Given the description of an element on the screen output the (x, y) to click on. 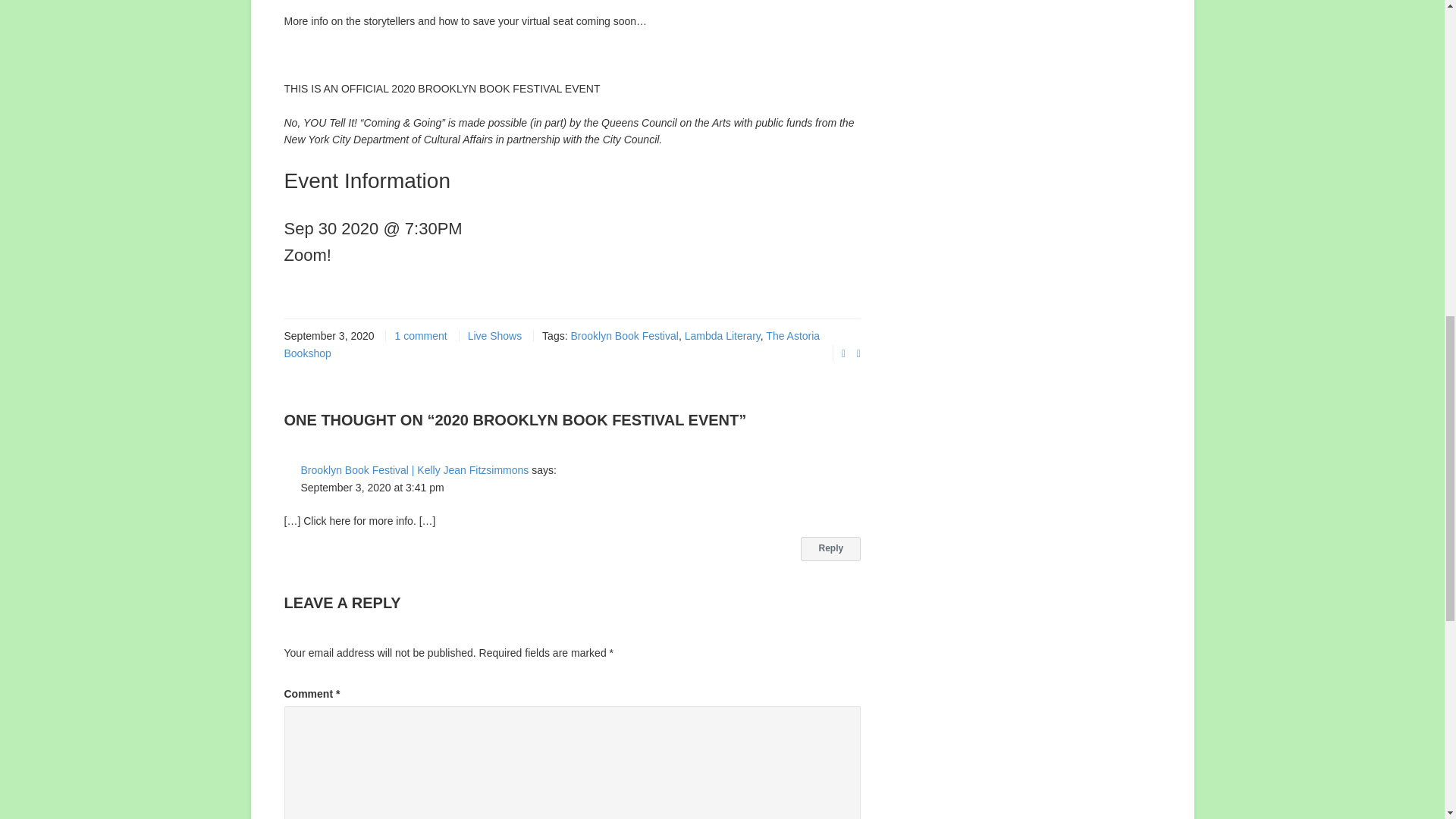
Live Shows (494, 336)
Brooklyn Book Festival (624, 336)
1 comment (420, 336)
